Given the description of an element on the screen output the (x, y) to click on. 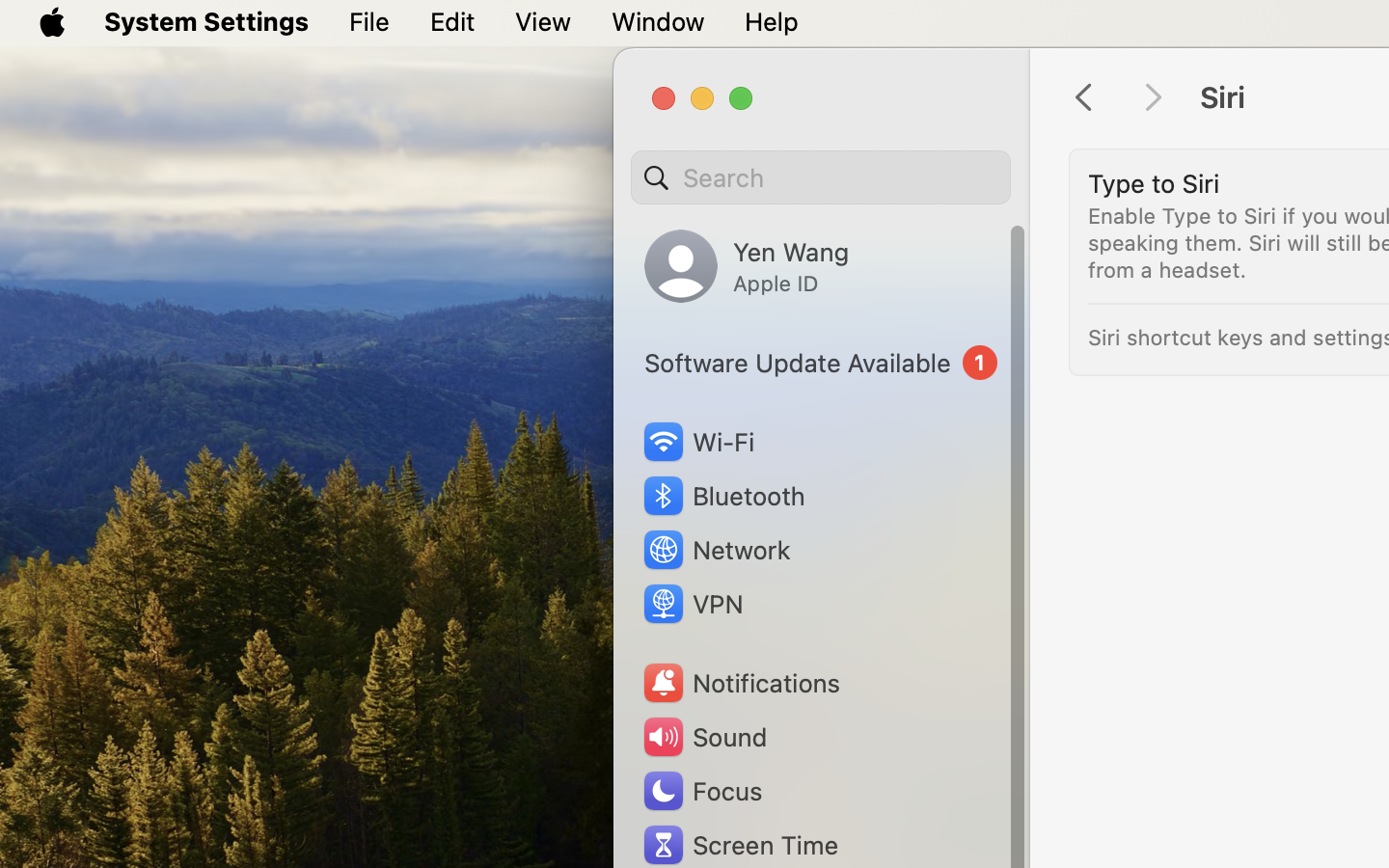
Focus Element type: AXStaticText (701, 790)
Bluetooth Element type: AXStaticText (723, 495)
Screen Time Element type: AXStaticText (739, 844)
Sound Element type: AXStaticText (703, 736)
